Given the description of an element on the screen output the (x, y) to click on. 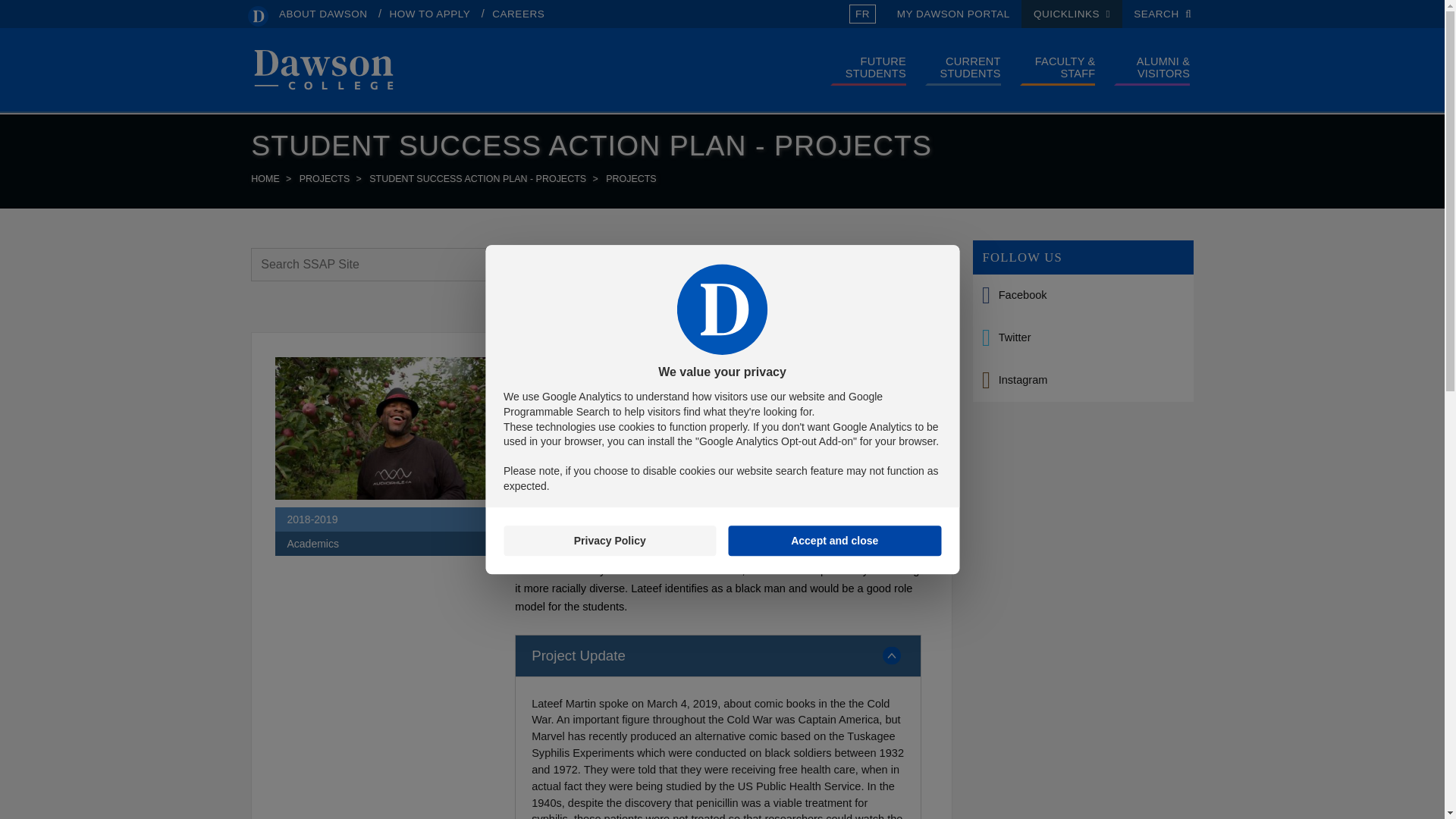
CAREERS (518, 13)
Lookup (1128, 177)
Search (1128, 85)
FR (862, 13)
SEARCH   (1162, 13)
ABOUT DAWSON (323, 13)
FUTURE STUDENTS (867, 67)
CURRENT STUDENTS (962, 67)
MY DAWSON PORTAL (953, 13)
QUICKLINKS   (1071, 13)
HOW TO APPLY (430, 13)
